Given the description of an element on the screen output the (x, y) to click on. 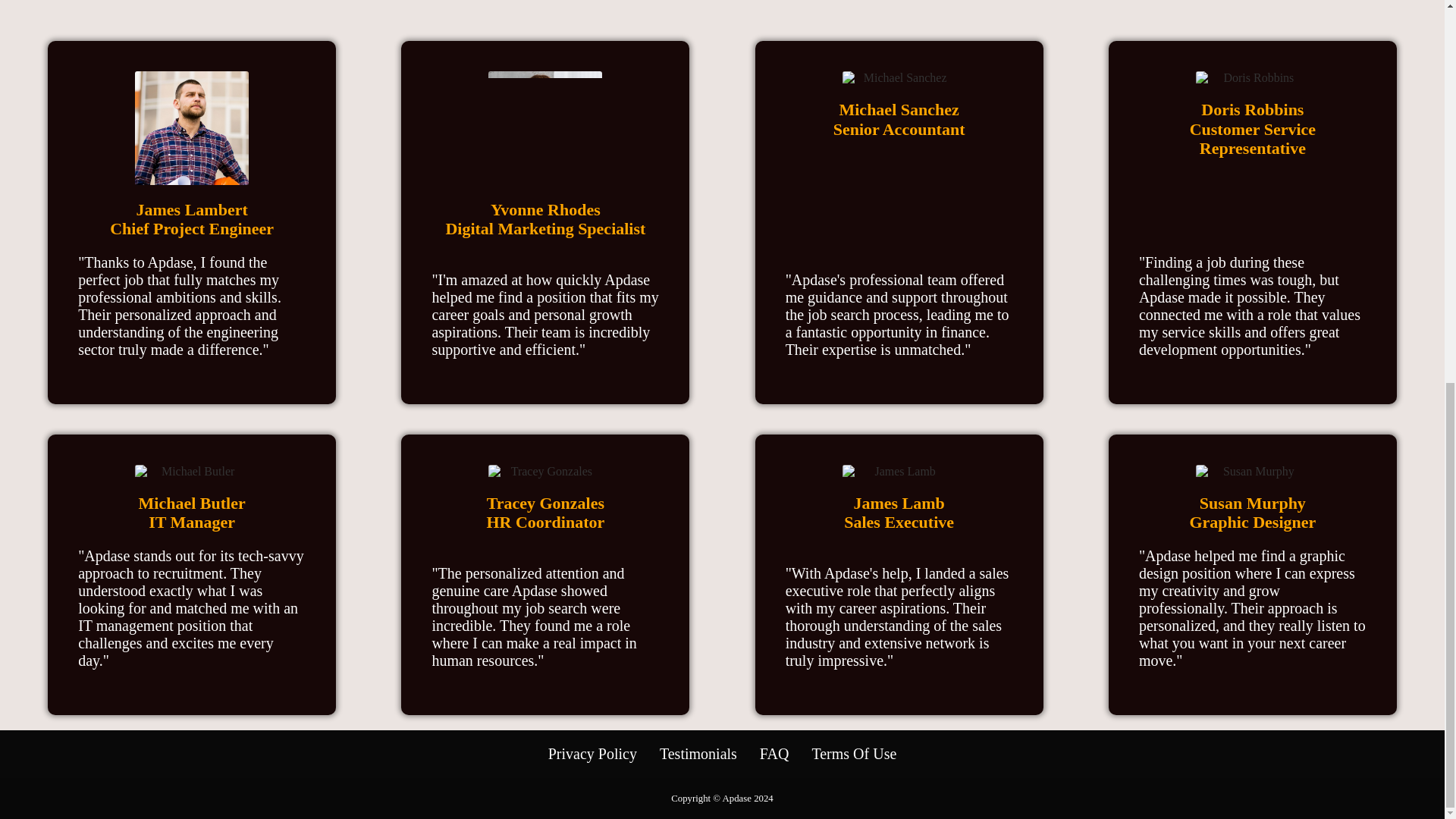
FAQ (774, 753)
Privacy Policy (592, 753)
Terms Of Use (853, 753)
Testimonials (697, 753)
